Given the description of an element on the screen output the (x, y) to click on. 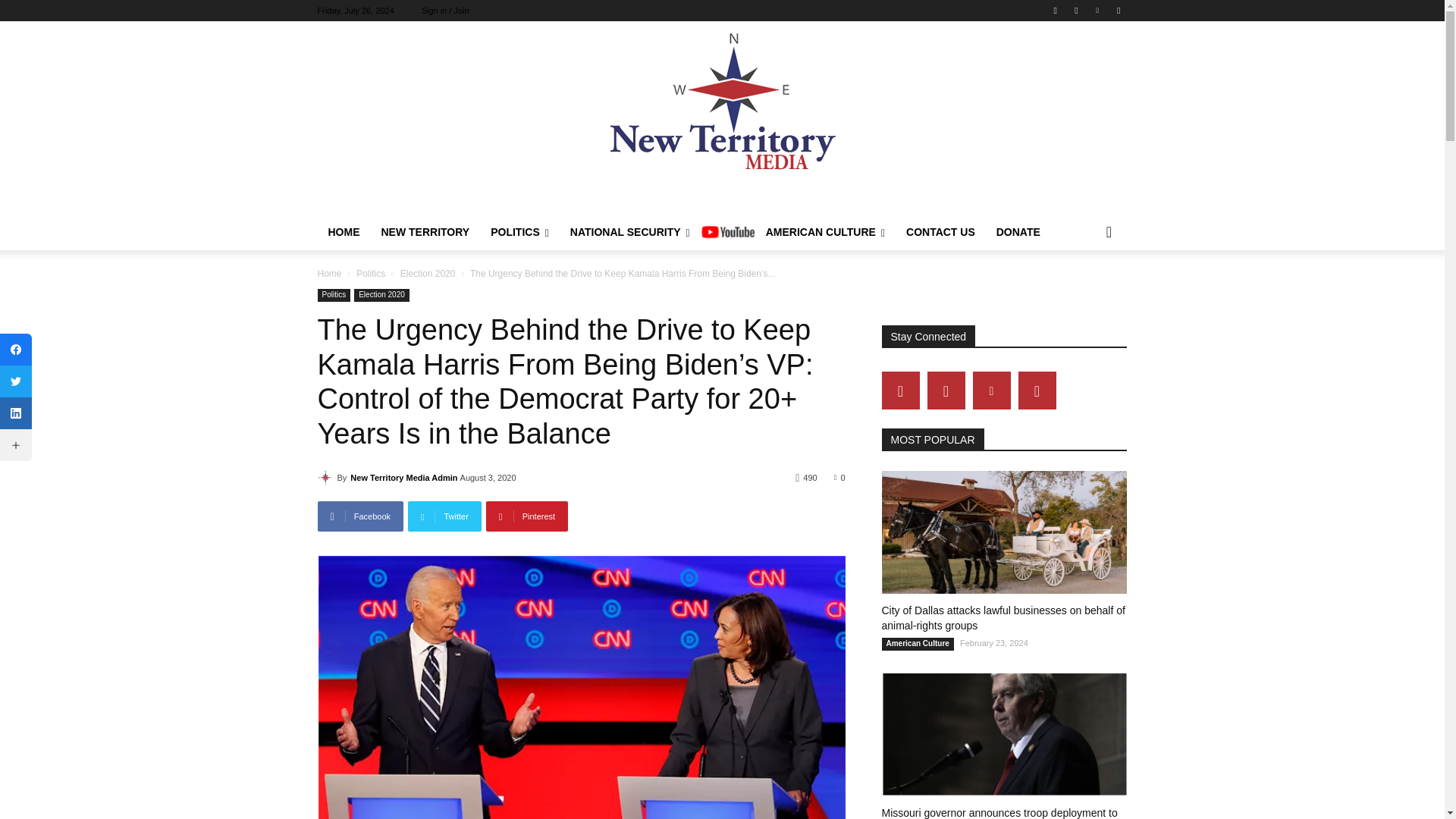
NEW TERRITORY (424, 231)
HOME (343, 231)
POLITICS (519, 231)
